Given the description of an element on the screen output the (x, y) to click on. 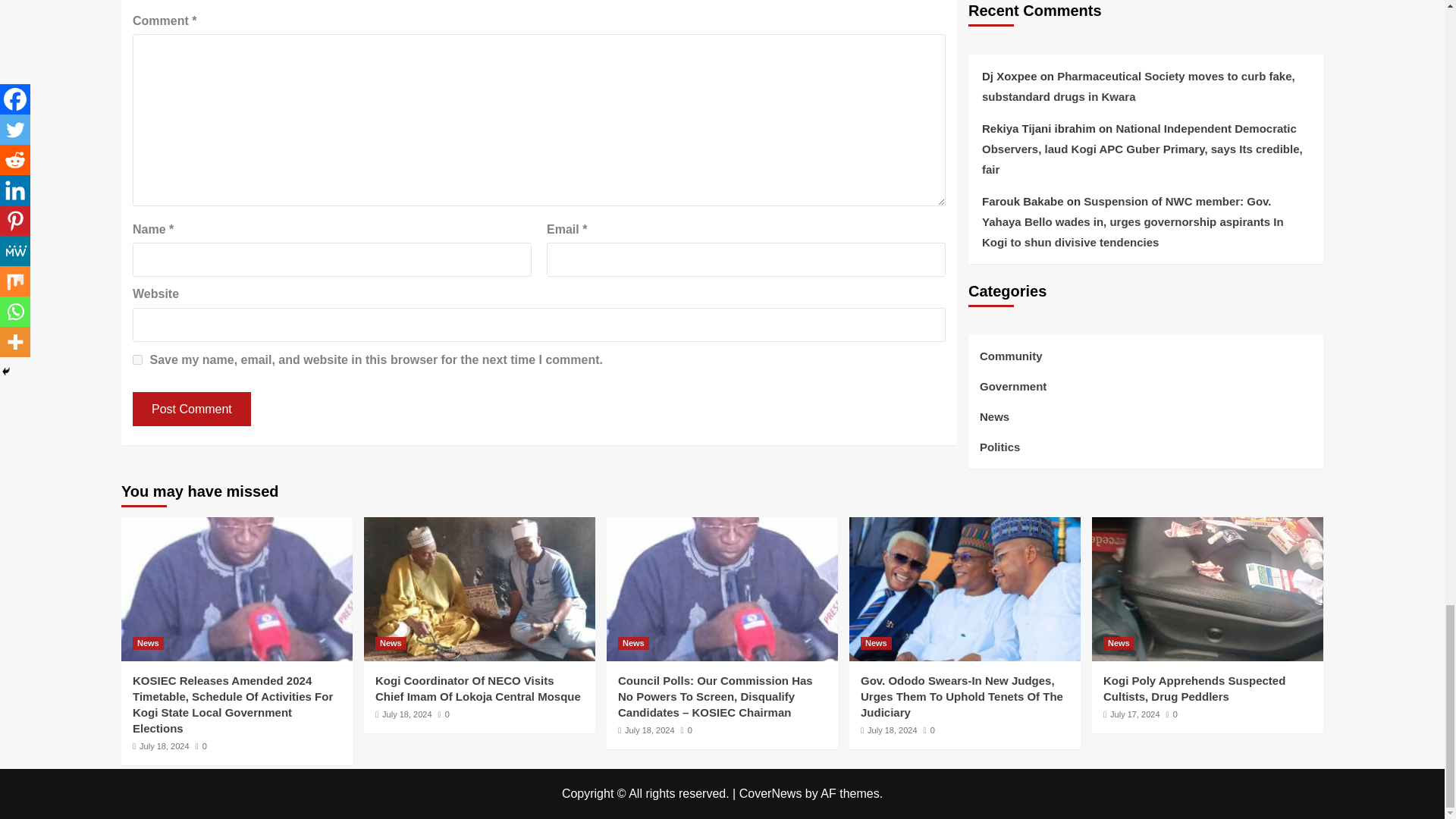
yes (137, 359)
Post Comment (191, 408)
